Given the description of an element on the screen output the (x, y) to click on. 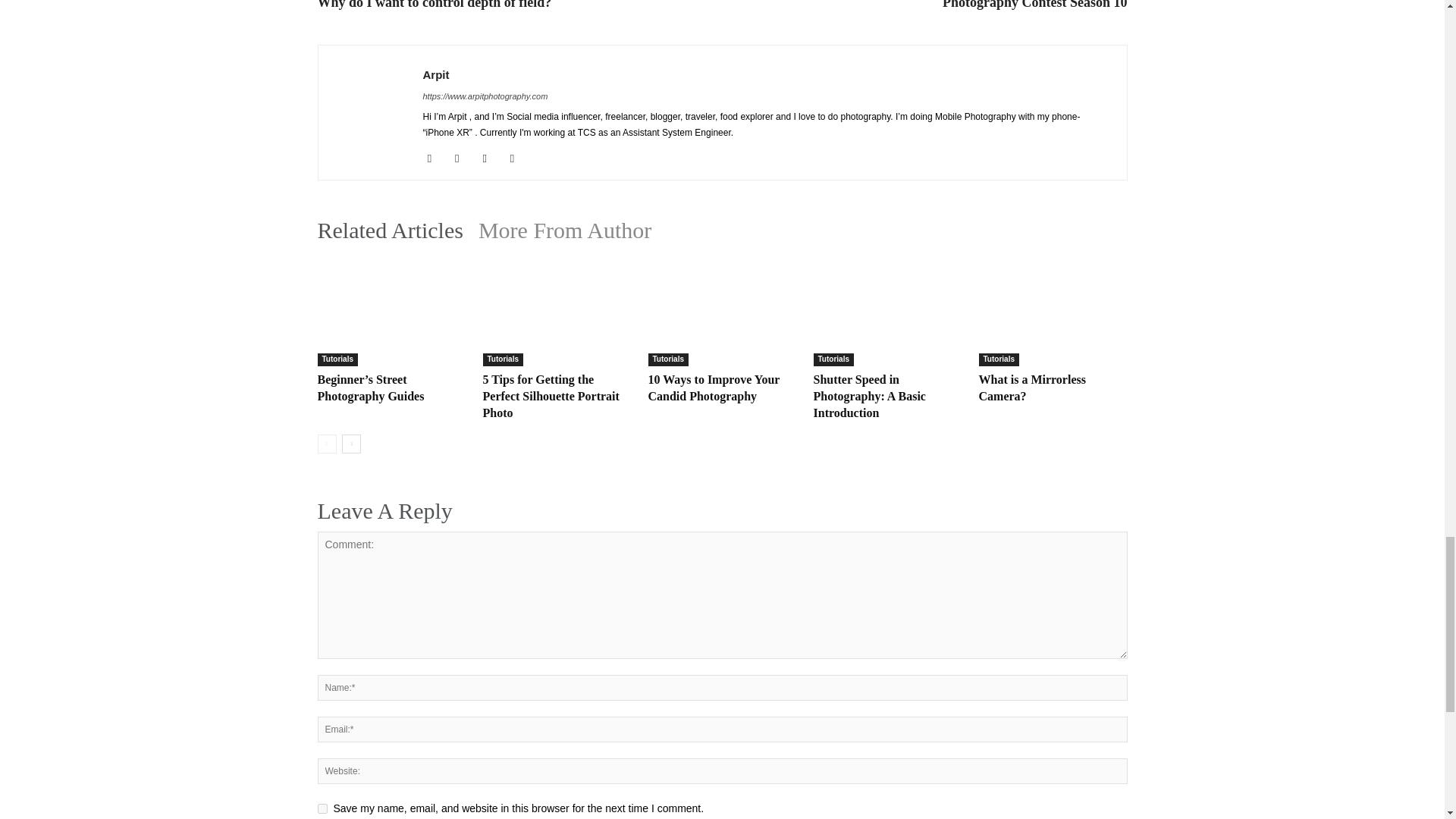
yes (321, 808)
